Given the description of an element on the screen output the (x, y) to click on. 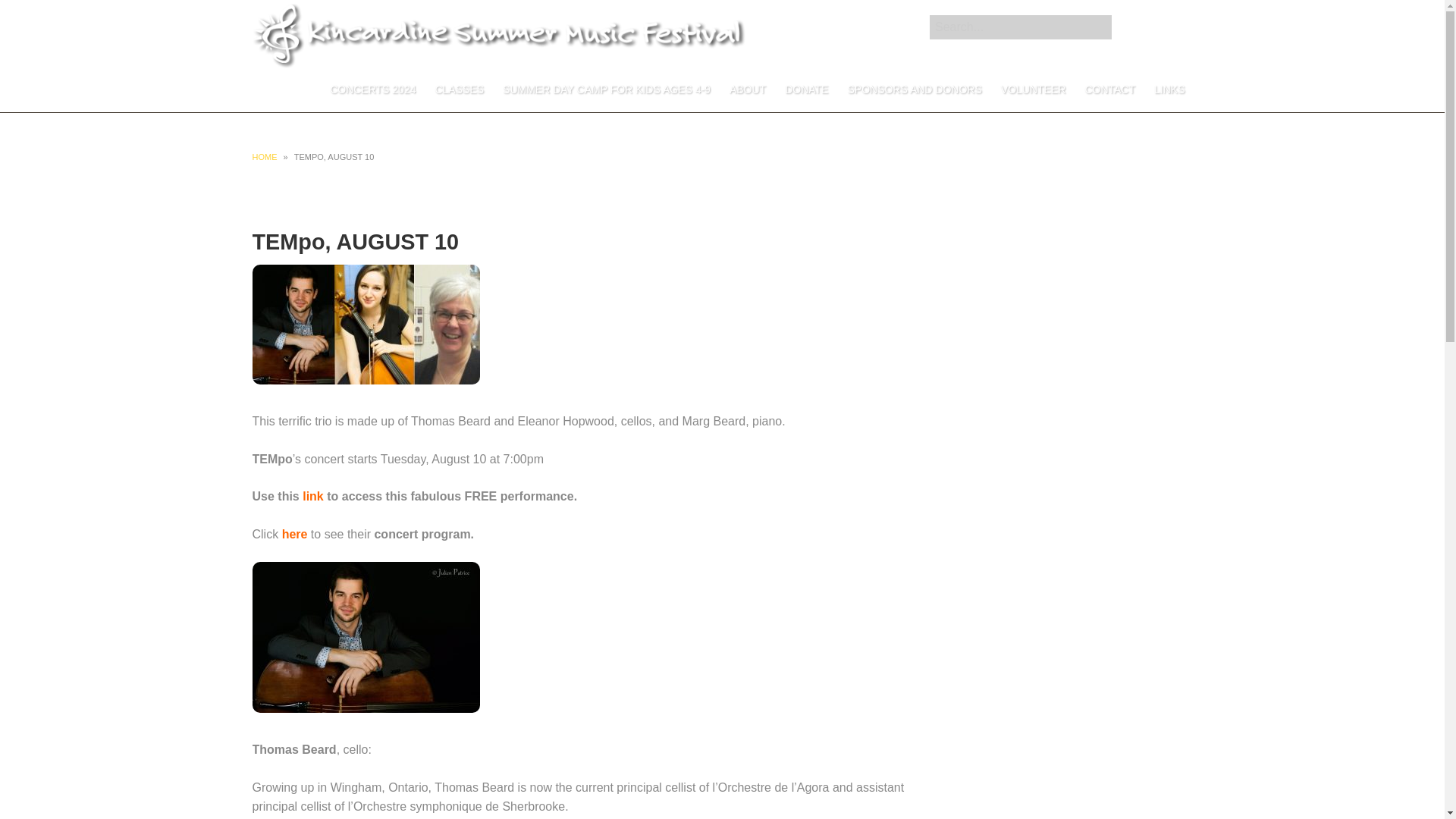
SPONSORS AND DONORS (914, 89)
SUMMER DAY CAMP FOR KIDS AGES 4-9 (606, 89)
CONCERTS 2024 (372, 89)
here (294, 533)
HOME (263, 156)
VOLUNTEER (1033, 89)
link (312, 495)
DONATE (806, 89)
CONTACT (1109, 89)
LINKS (1169, 89)
